Given the description of an element on the screen output the (x, y) to click on. 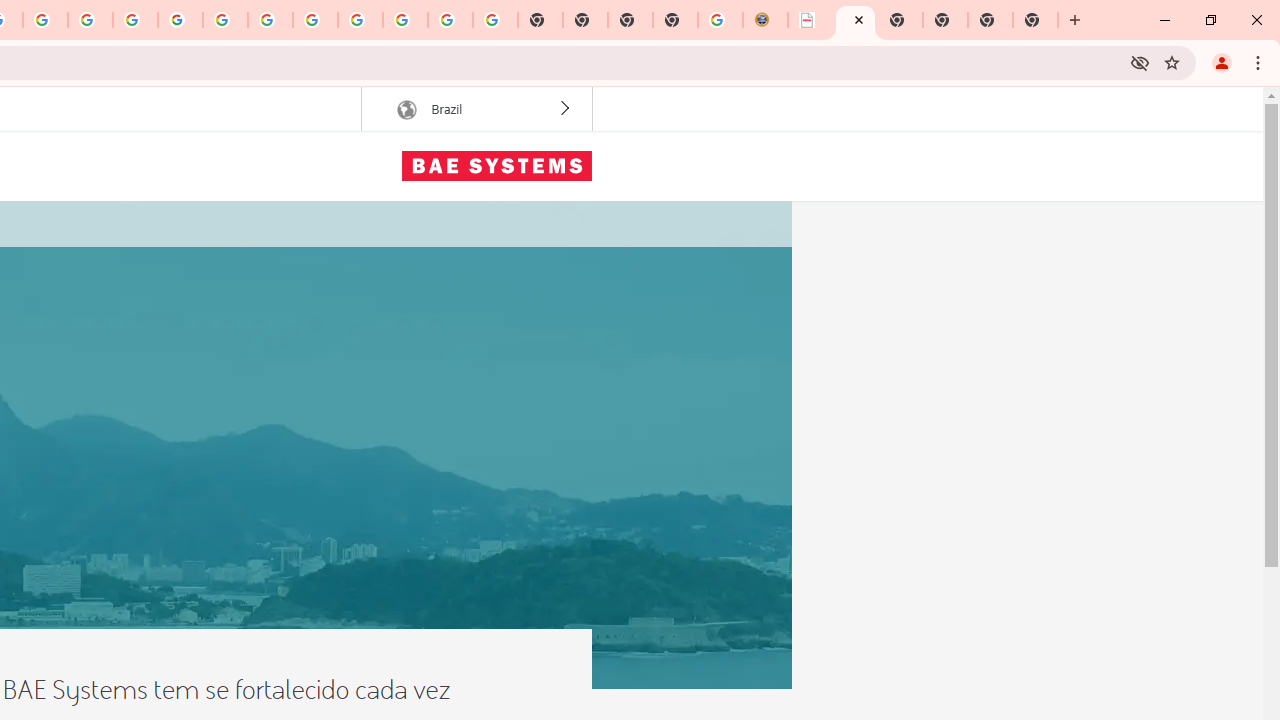
Pardon Our Interruption (810, 20)
YouTube (225, 20)
New Tab (1035, 20)
 International Region Icon (406, 110)
BAE Systems (495, 165)
